Given the description of an element on the screen output the (x, y) to click on. 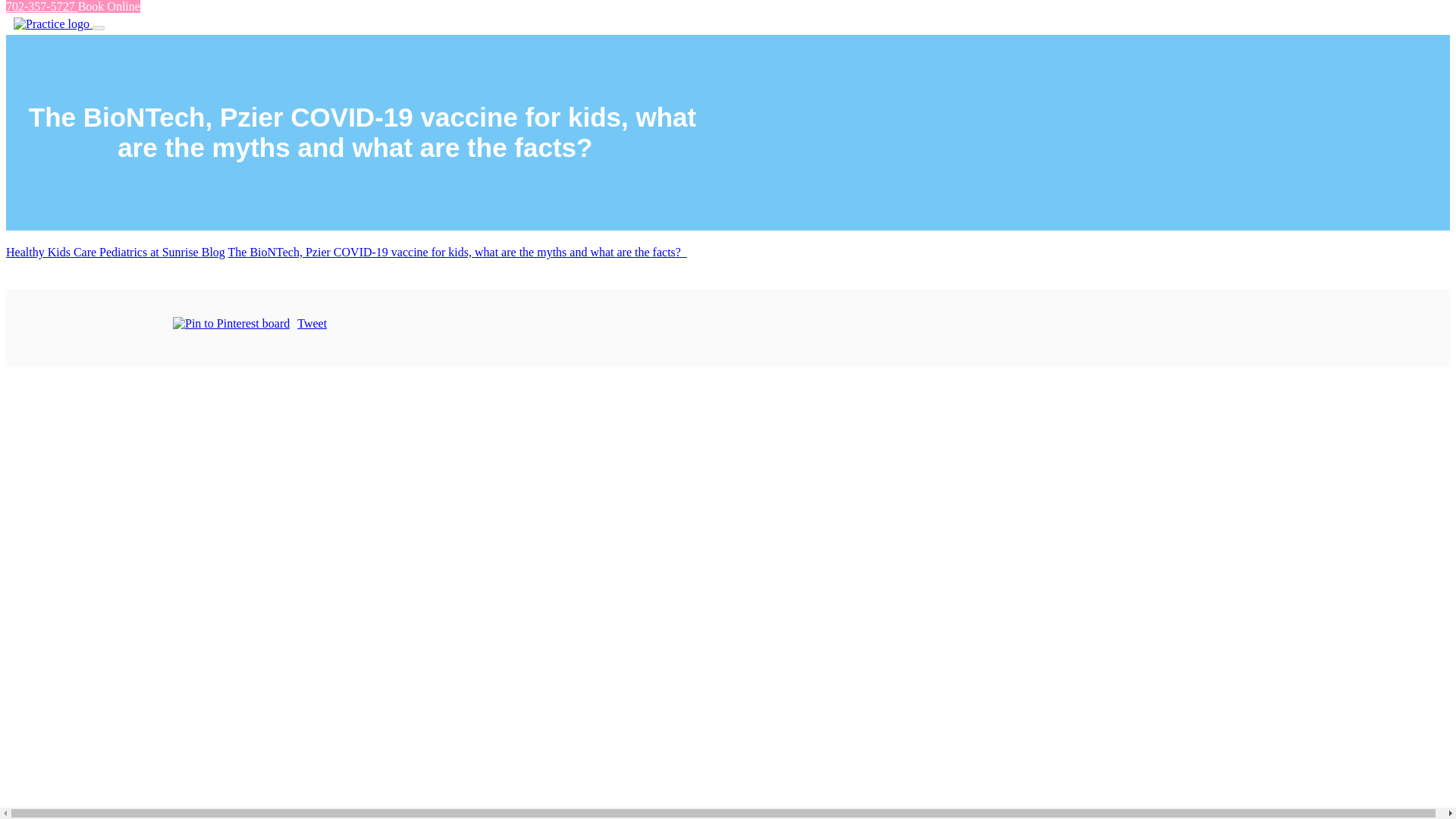
Blog (213, 251)
Book Online (108, 6)
702-357-5727 (41, 6)
Tweet (311, 323)
Healthy Kids Care Pediatrics at Sunrise (103, 251)
Facebook social button (112, 324)
